Given the description of an element on the screen output the (x, y) to click on. 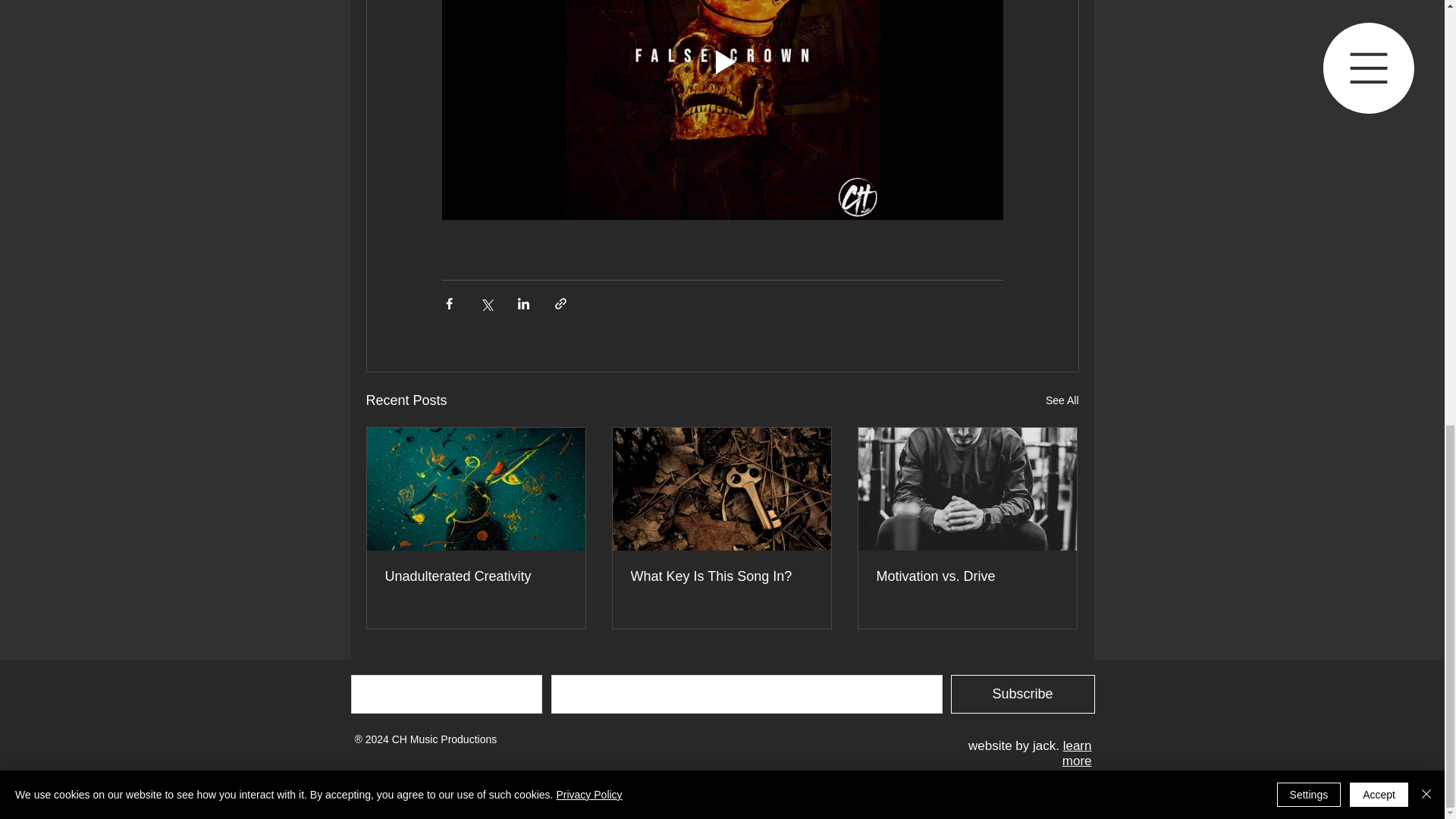
Subscribe (1022, 693)
learn more (1077, 753)
Motivation vs. Drive (967, 576)
Unadulterated Creativity (476, 576)
See All (1061, 400)
What Key Is This Song In? (721, 576)
